Given the description of an element on the screen output the (x, y) to click on. 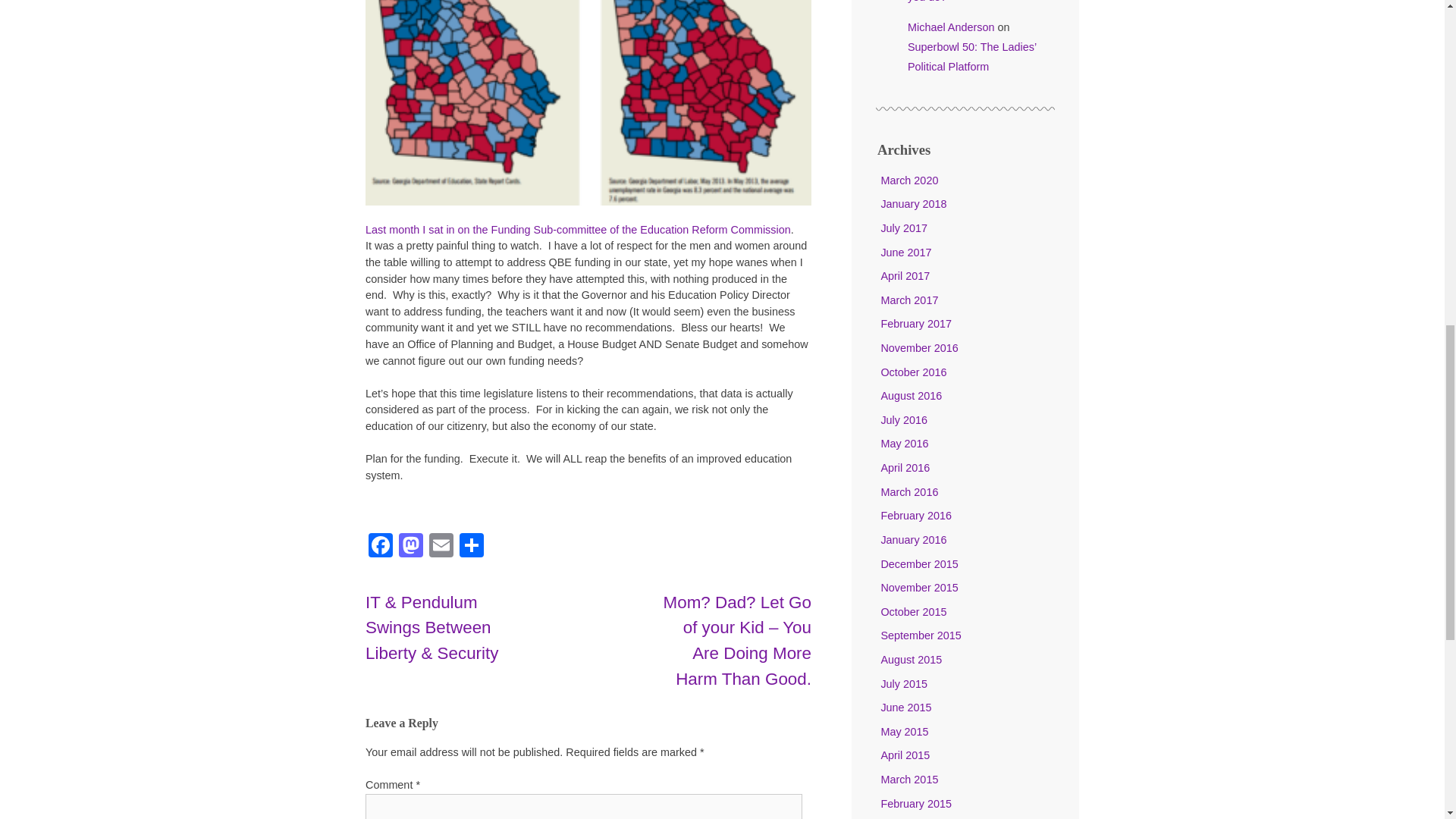
Mastodon (411, 547)
Email (441, 547)
Share (471, 547)
Facebook (380, 547)
Mastodon (411, 547)
Email (441, 547)
Facebook (380, 547)
